Given the description of an element on the screen output the (x, y) to click on. 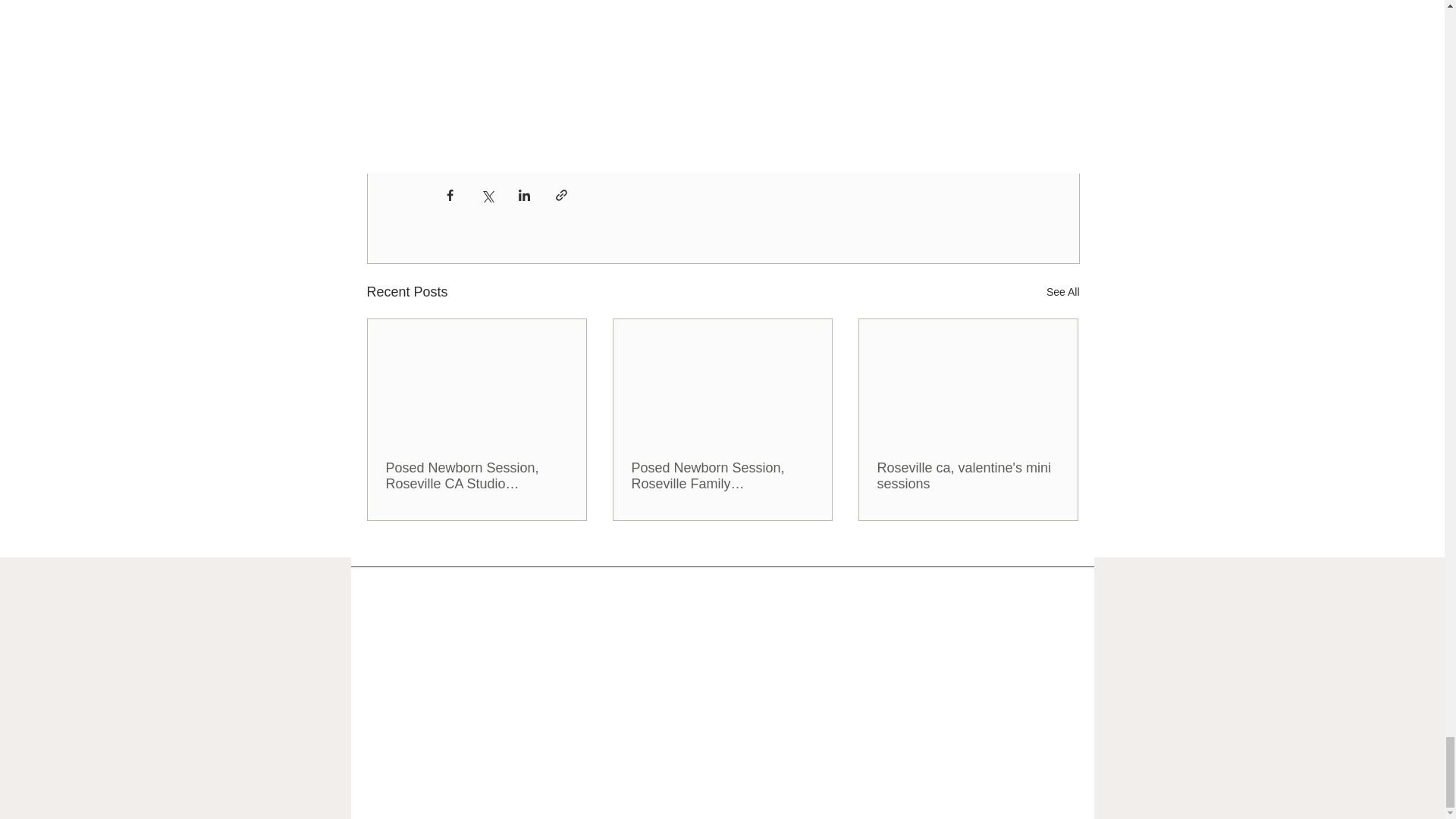
Roseville ca, valentine's mini sessions (967, 476)
See All (1063, 292)
Posed Newborn Session, Roseville Family Photographer (721, 476)
Posed Newborn Session, Roseville CA Studio Photographer (476, 476)
